Given the description of an element on the screen output the (x, y) to click on. 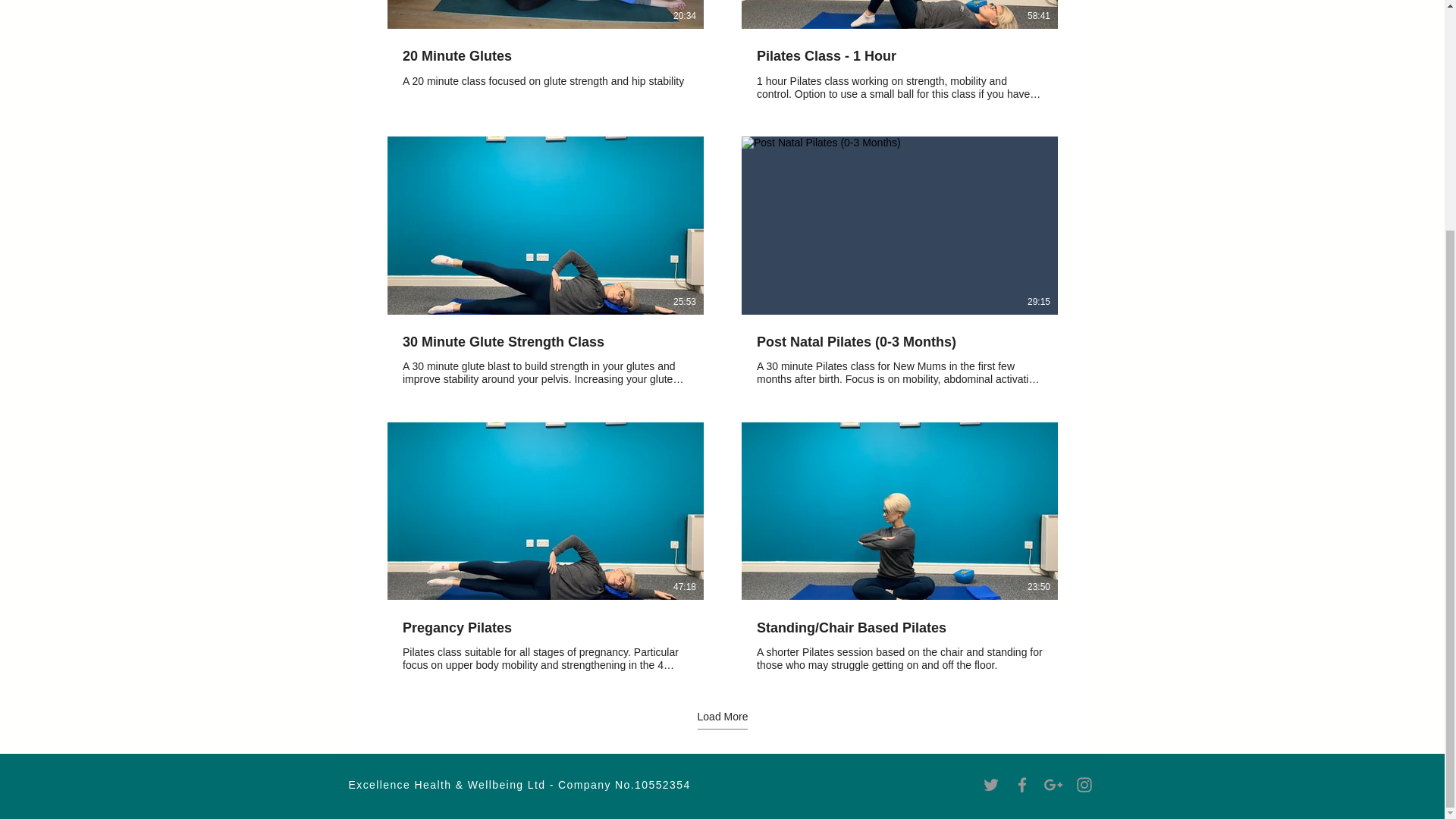
Pregancy Pilates (544, 628)
30 Minute Glute Strength Class (544, 342)
20 Minute Glutes (544, 56)
Pilates Class - 1 Hour (899, 56)
